Given the description of an element on the screen output the (x, y) to click on. 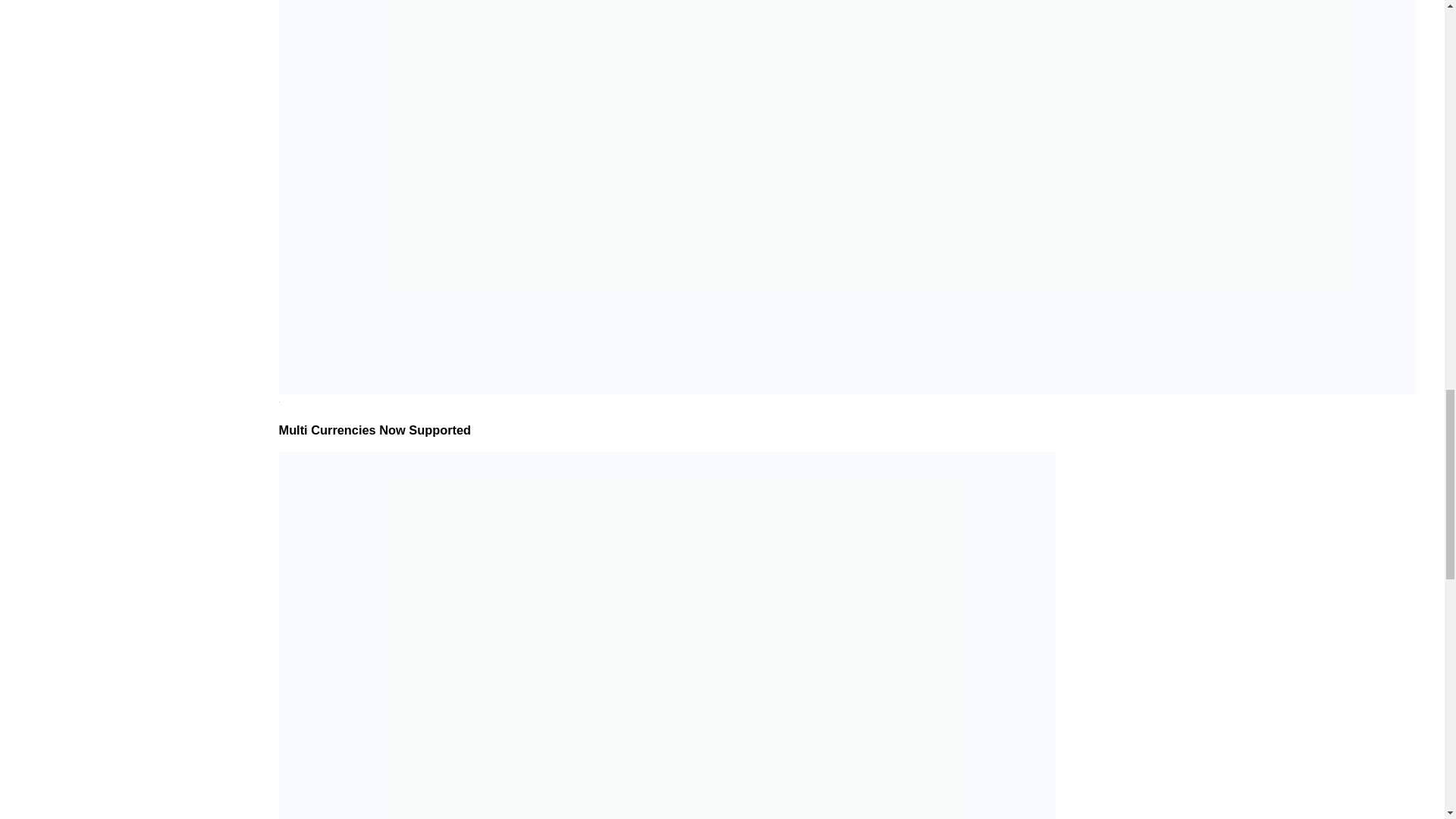
Multi Currencies Now Supported (375, 429)
